Given the description of an element on the screen output the (x, y) to click on. 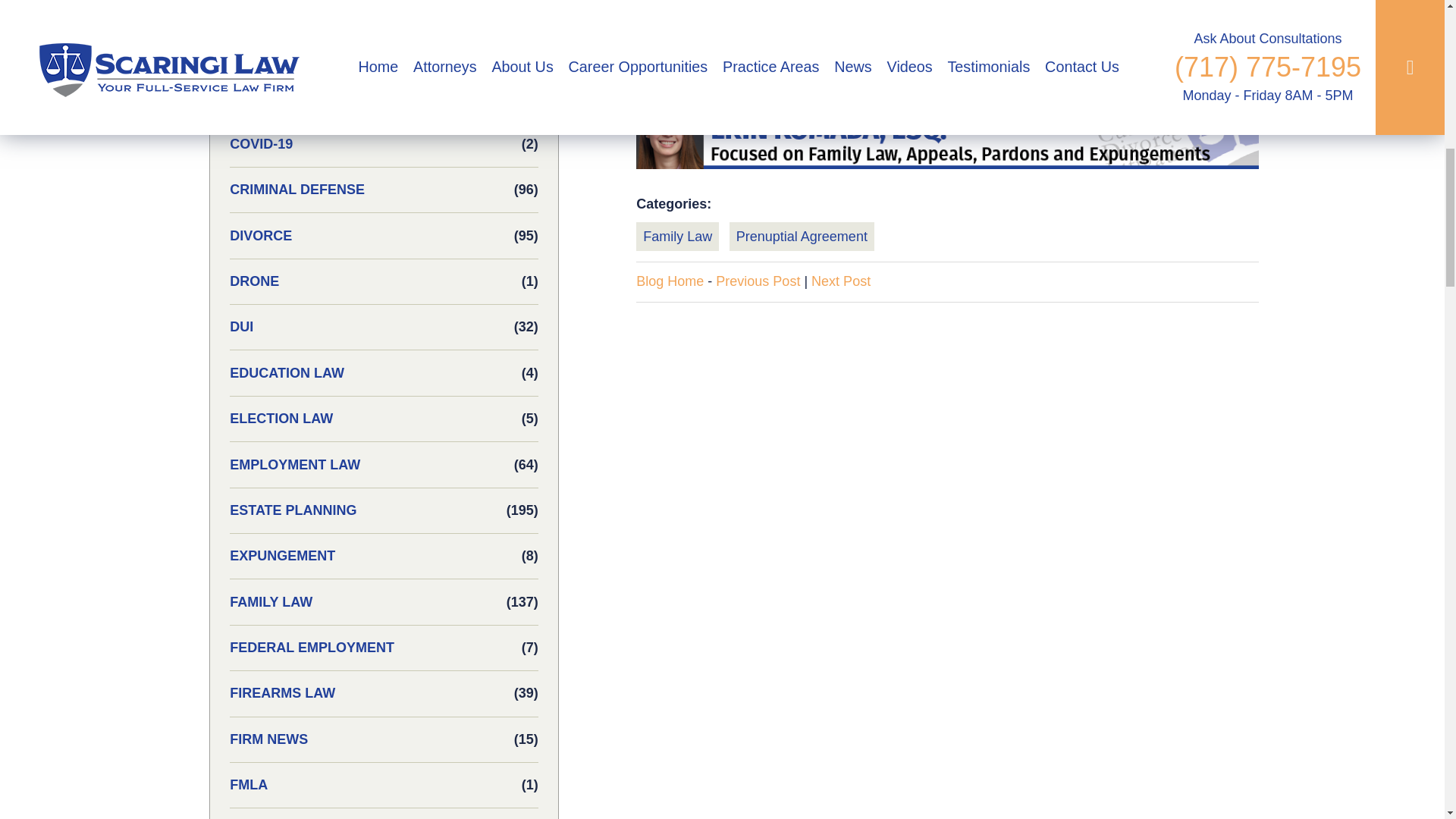
Watch Who You Run With! (757, 281)
Unveiling Concealed Carry Laws in Pennsylvania (840, 281)
